Given the description of an element on the screen output the (x, y) to click on. 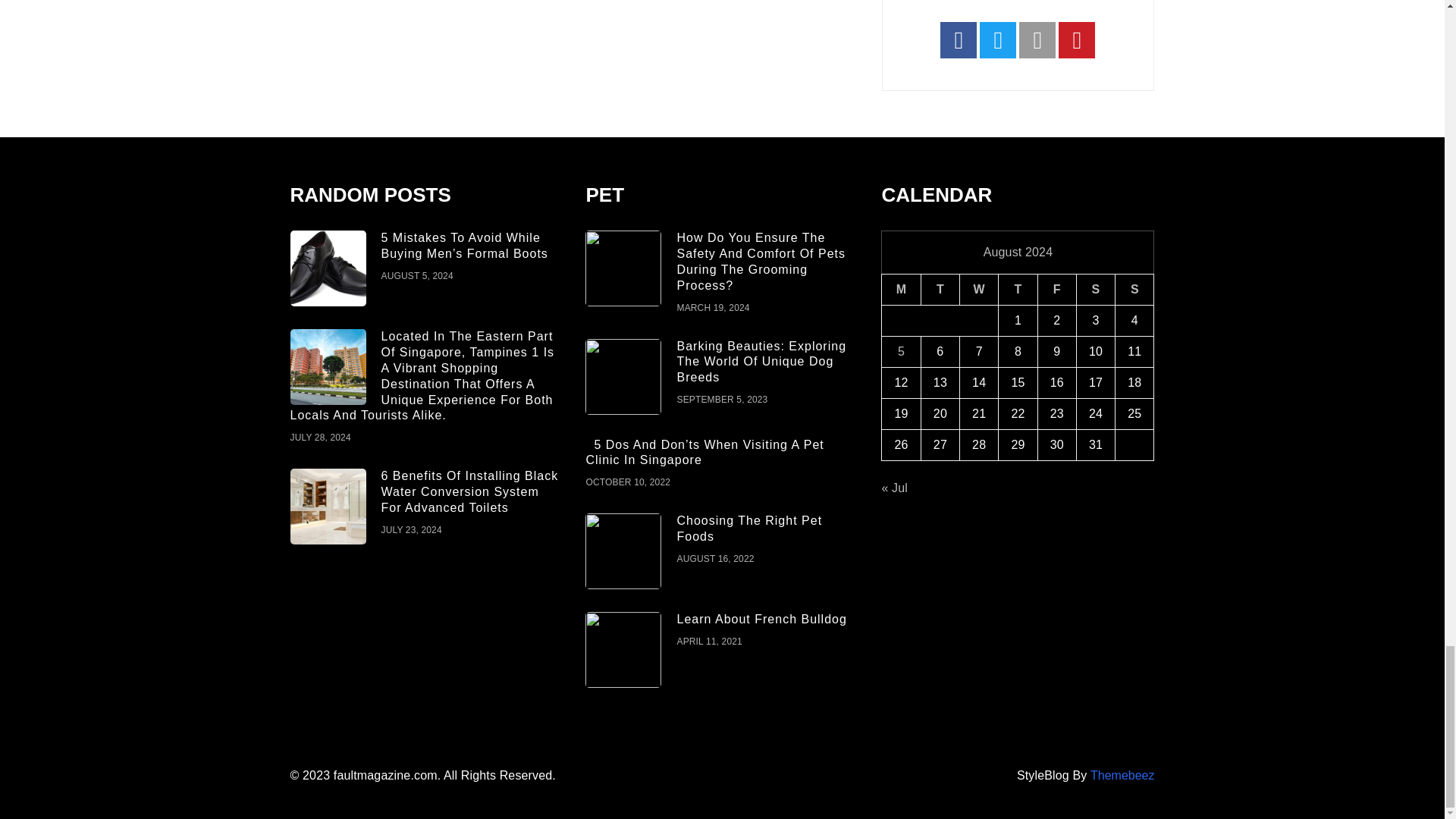
Tuesday (939, 289)
Wednesday (978, 289)
LinkedIn (1037, 40)
Facebook (958, 40)
Friday (1055, 289)
Saturday (1095, 289)
Twitter (997, 40)
Pinterest (1076, 40)
Thursday (1017, 289)
Monday (901, 289)
